Given the description of an element on the screen output the (x, y) to click on. 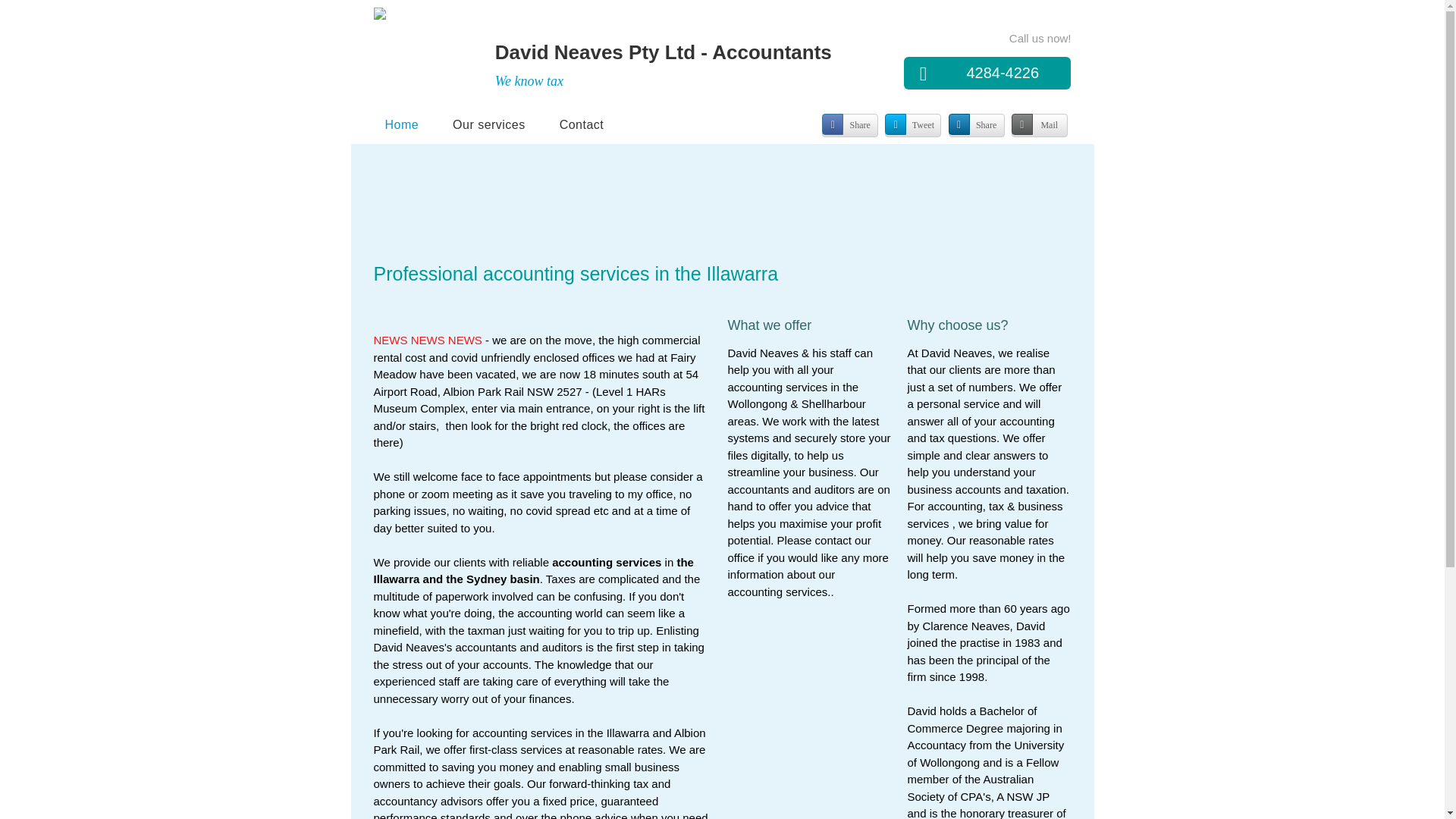
Logo Element type: hover (416, 50)
Home Element type: text (401, 124)
Contact Element type: text (581, 124)
4284-4226 Element type: text (986, 72)
Our services Element type: text (488, 124)
